Given the description of an element on the screen output the (x, y) to click on. 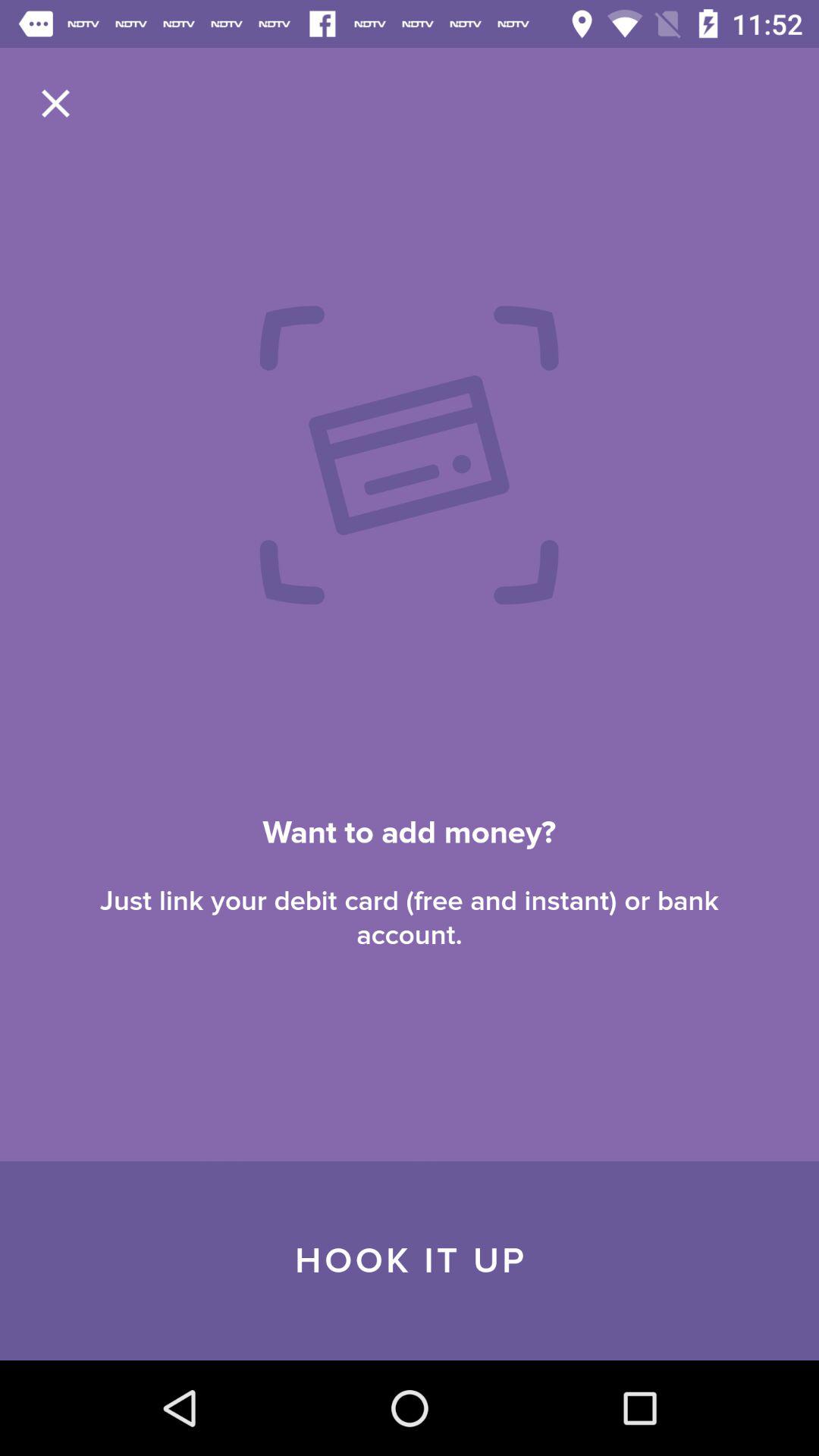
tap the icon below the just link your (409, 1260)
